Given the description of an element on the screen output the (x, y) to click on. 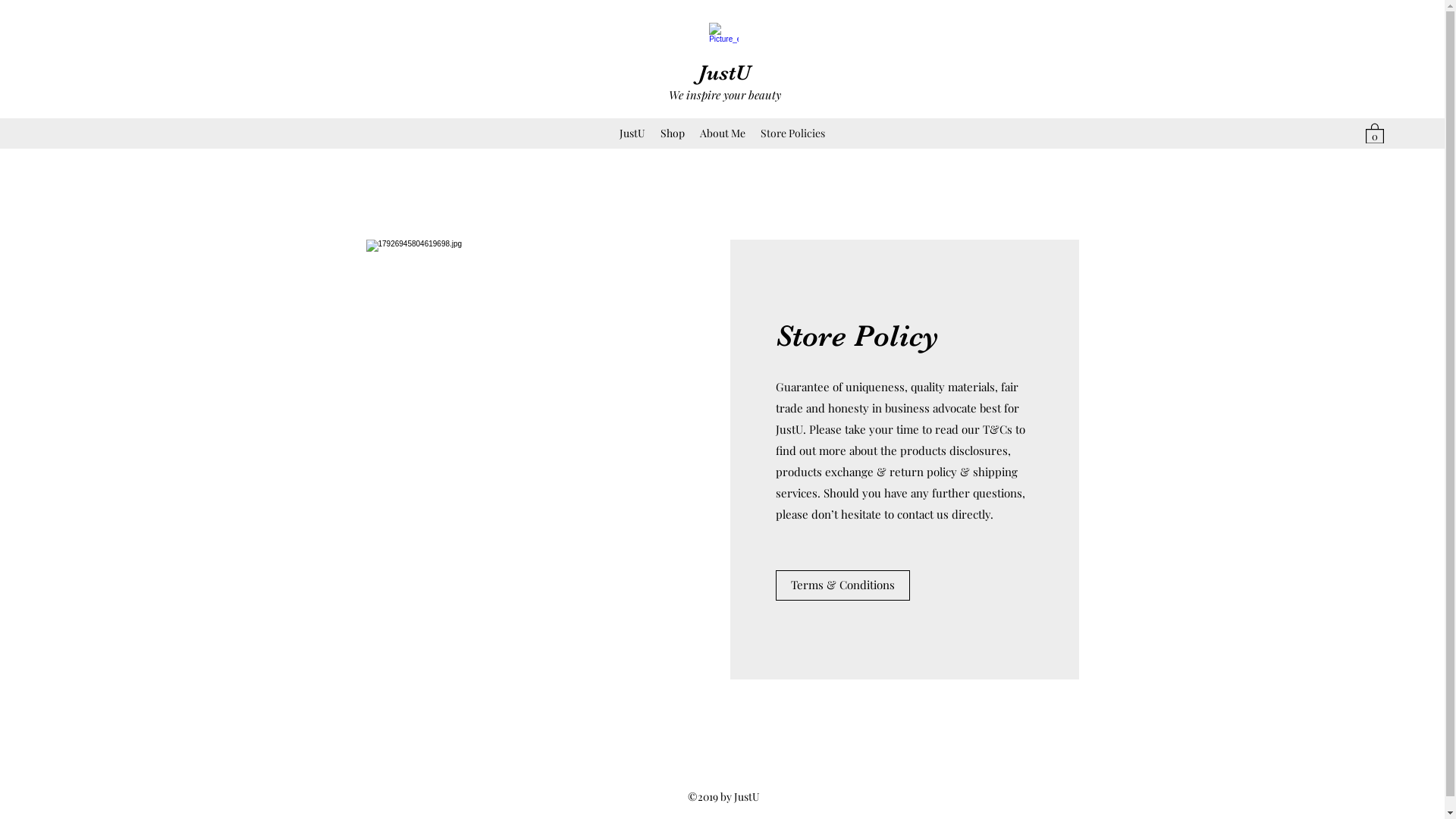
Store Policies Element type: text (792, 133)
About Me Element type: text (722, 133)
JustU Element type: text (631, 133)
0 Element type: text (1374, 133)
Shop Element type: text (672, 133)
Terms & Conditions Element type: text (842, 585)
JustU Element type: text (723, 72)
